Given the description of an element on the screen output the (x, y) to click on. 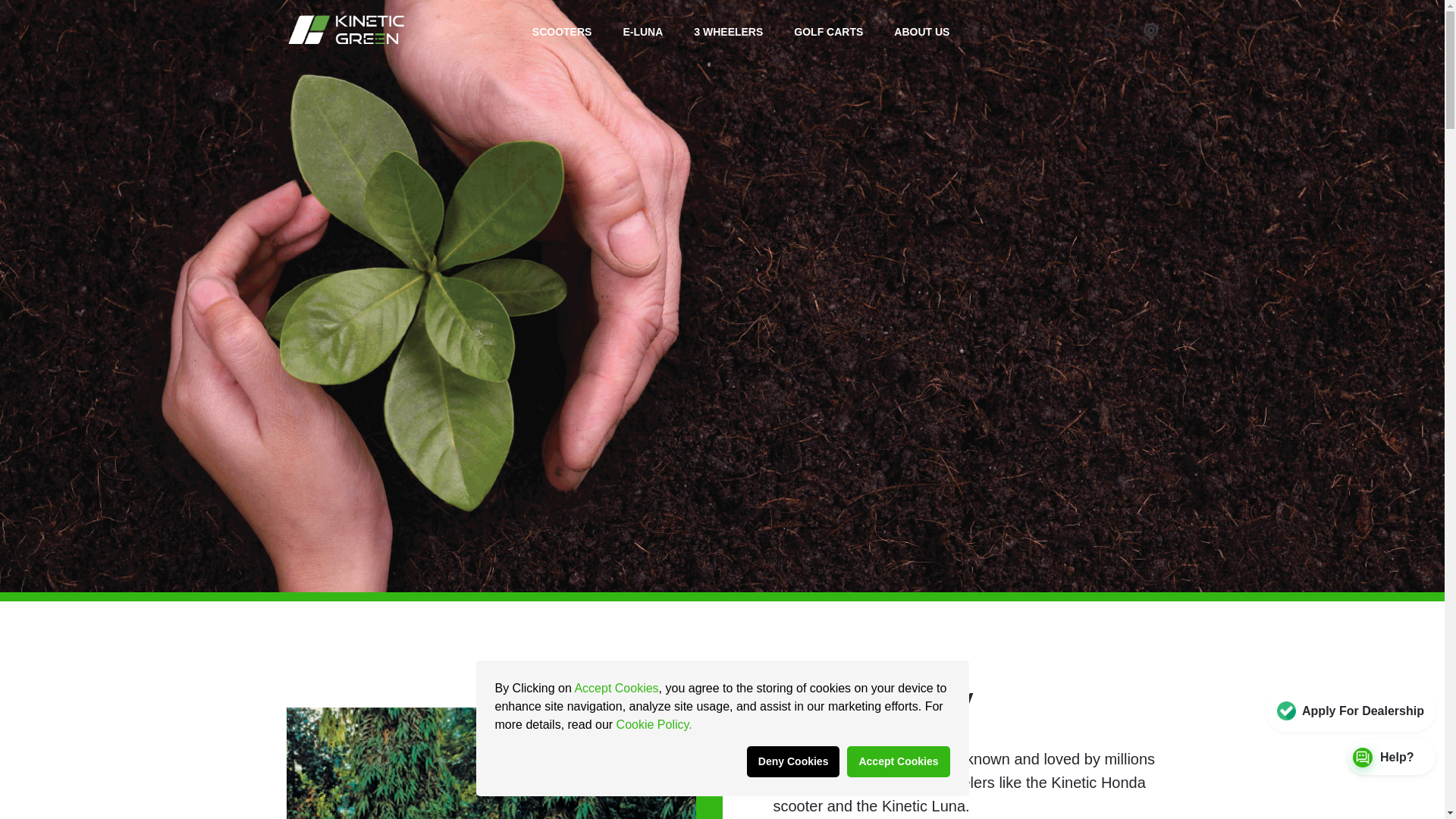
SCOOTERS (562, 31)
3 Wheelers (728, 31)
E-LUNA (642, 31)
E-Luna (642, 31)
ABOUT US (921, 31)
Scooters (562, 31)
About Us (921, 31)
GOLF CARTS (828, 31)
3 WHEELERS (728, 31)
Golf Carts (828, 31)
